Given the description of an element on the screen output the (x, y) to click on. 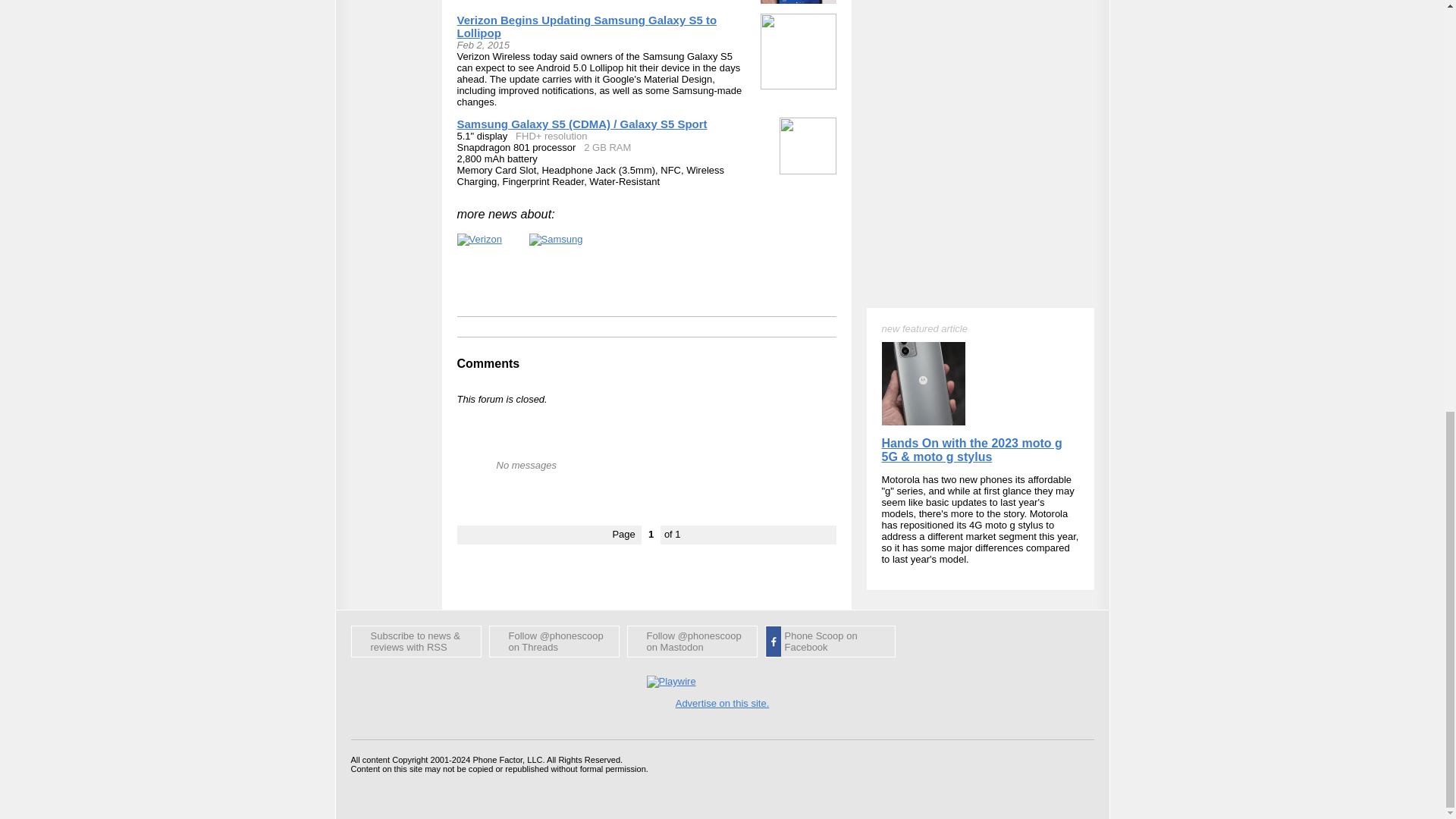
Comments (488, 363)
Verizon (478, 239)
Phone Scoop - Latest News (415, 641)
Samsung (556, 239)
